Given the description of an element on the screen output the (x, y) to click on. 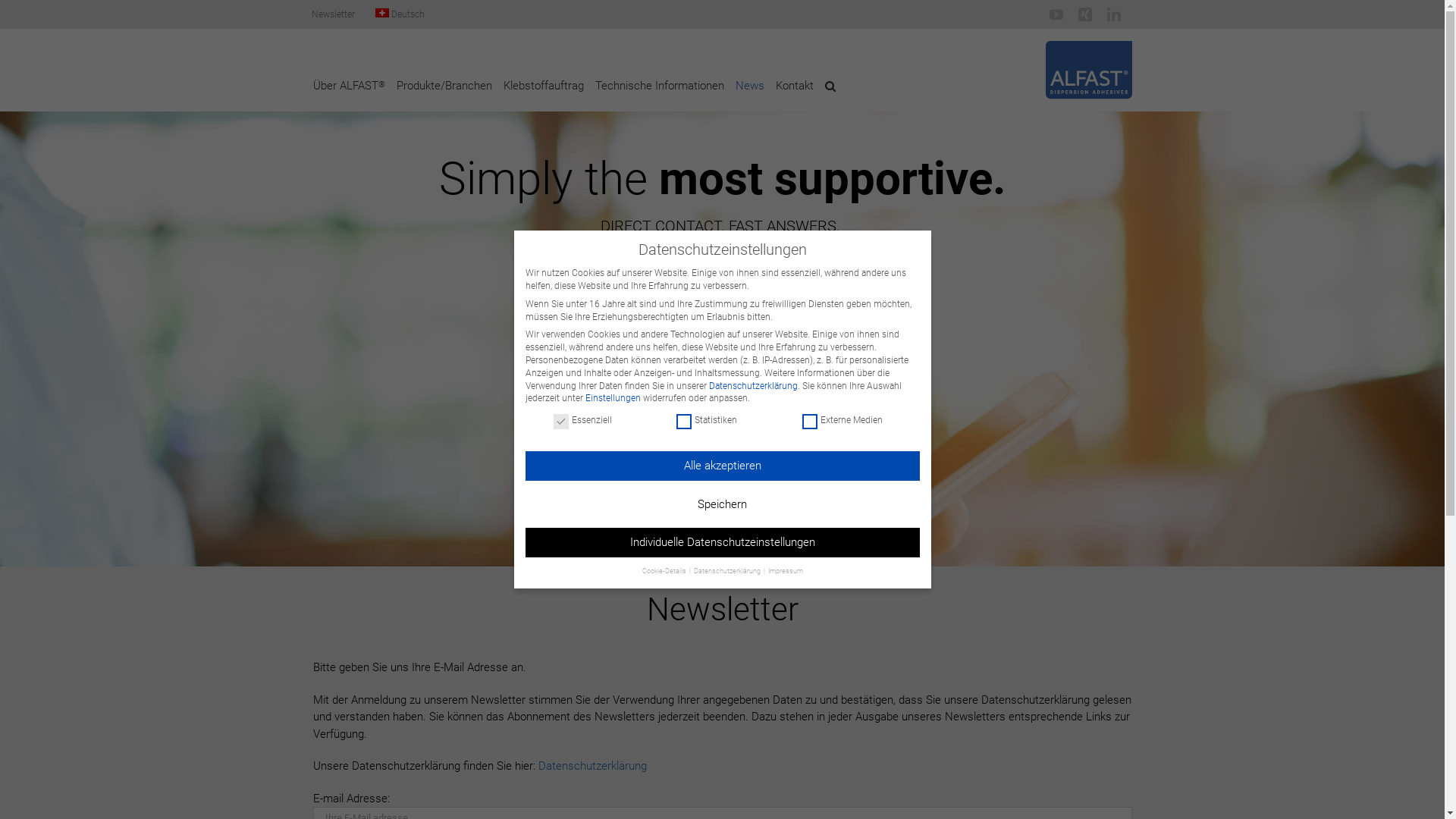
YouTube Element type: text (1056, 14)
Produkte/Branchen Element type: text (443, 85)
Deutsch Element type: text (400, 14)
LinkedIn Element type: text (1113, 14)
Einstellungen Element type: text (612, 397)
Newsletter Element type: text (332, 14)
Kontakt Element type: text (793, 85)
Klebstoffauftrag Element type: text (543, 85)
Technische Informationen Element type: text (658, 85)
Individuelle Datenschutzeinstellungen Element type: text (721, 542)
Impressum Element type: text (784, 570)
Xing Element type: text (1085, 14)
Suche Element type: hover (830, 85)
Alle akzeptieren Element type: text (721, 465)
Speichern Element type: text (721, 504)
News Element type: text (749, 85)
Cookie-Details Element type: text (664, 570)
